Given the description of an element on the screen output the (x, y) to click on. 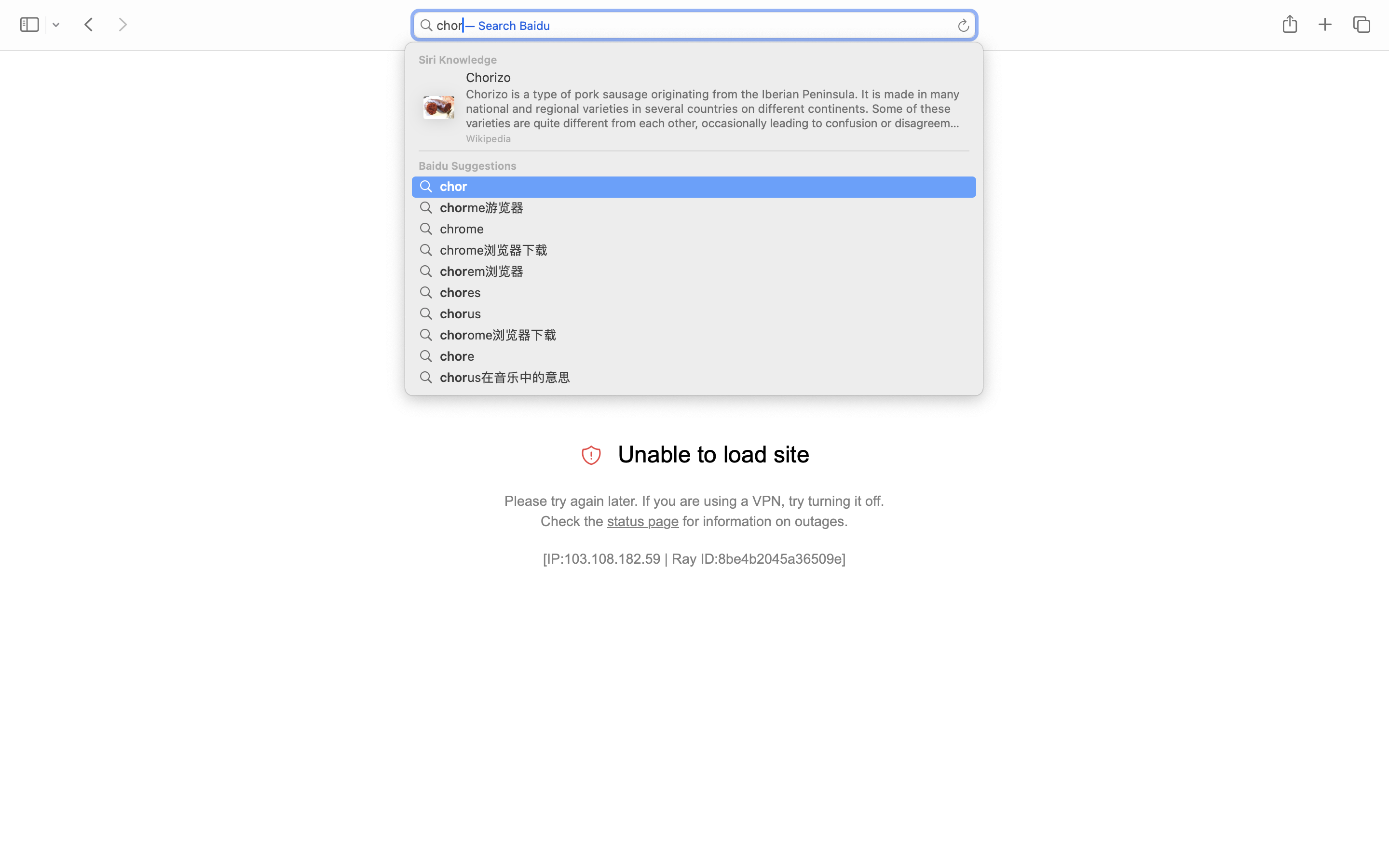
status page Element type: AXStaticText (642, 521)
Baidu Suggestions Element type: AXStaticText (693, 165)
Wikipedia Element type: AXStaticText (488, 138)
chorme游览器 Element type: AXStaticText (482, 206)
chrome Element type: AXStaticText (463, 227)
